Given the description of an element on the screen output the (x, y) to click on. 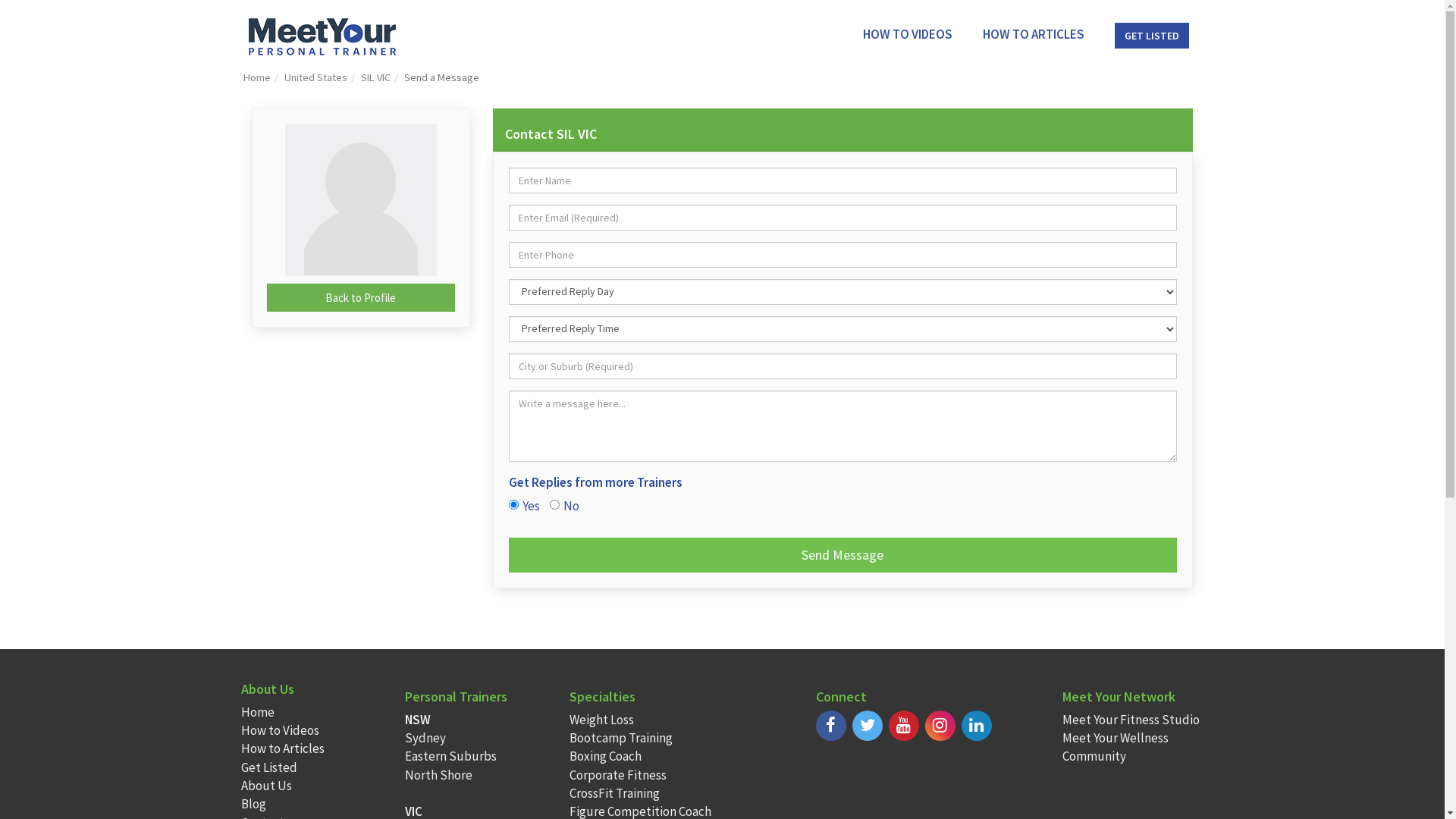
Meet Your Personal Trainer Instagram Element type: hover (940, 725)
Home Element type: text (255, 77)
United States Element type: text (314, 77)
HOW TO ARTICLES Element type: text (1033, 33)
NSW Element type: text (417, 719)
Bootcamp Training Element type: text (620, 737)
SIL VIC Meet Your Personal Trainer Element type: hover (360, 200)
Blog Element type: text (253, 803)
Meet Your Wellness Community Element type: text (1115, 746)
Meet Your Personal Trainer Facebook Element type: hover (830, 725)
GET LISTED Element type: text (1151, 35)
Meet Your Personal Trainer Twitter Element type: hover (867, 725)
SIL VIC Element type: hover (360, 200)
CrossFit Training Element type: text (614, 792)
Eastern Suburbs Element type: text (450, 755)
Meet Your Fitness Studio Element type: text (1130, 719)
HOW TO VIDEOS Element type: text (907, 33)
North Shore Element type: text (438, 774)
Meet Your Personal Trainer LinkedIn Element type: hover (976, 725)
GET LISTED Element type: text (1151, 33)
Sydney Element type: text (424, 737)
Back to Profile Element type: text (360, 297)
Meet Your Personal Trainer Element type: hover (322, 35)
Boxing Coach Element type: text (605, 755)
Send Message Element type: text (842, 554)
How to Videos Element type: text (280, 729)
Weight Loss Element type: text (601, 719)
Get Listed Element type: text (269, 767)
About Us Element type: text (266, 785)
Corporate Fitness Element type: text (617, 774)
SIL VIC Element type: text (375, 77)
Meet Your Personal Trainer YouTube Element type: hover (903, 725)
Home Element type: text (257, 711)
How to Articles Element type: text (282, 748)
